Given the description of an element on the screen output the (x, y) to click on. 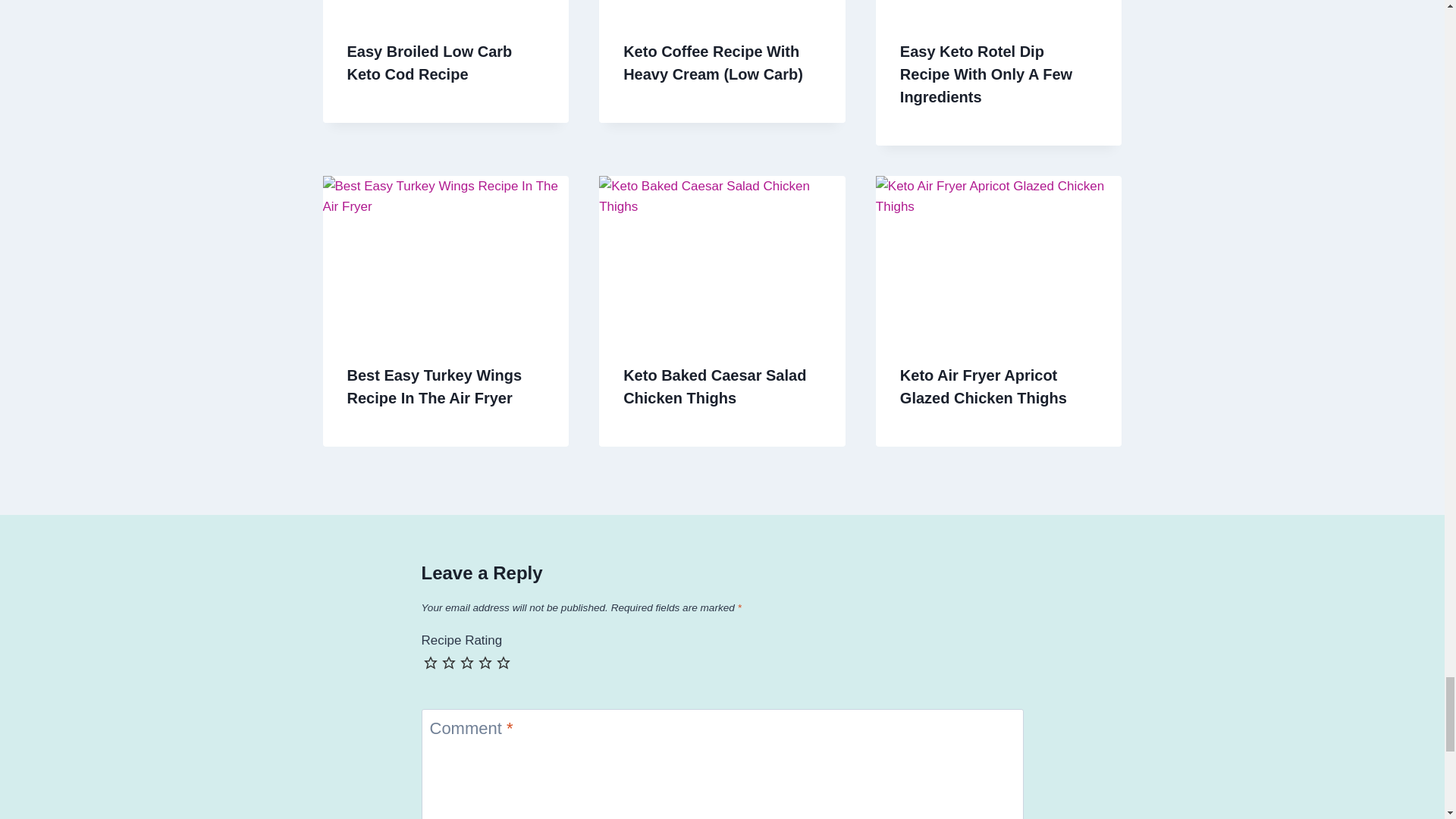
Keto Baked Caesar Salad Chicken Thighs (714, 386)
Easy Broiled Low Carb Keto Cod Recipe (429, 62)
Best Easy Turkey Wings Recipe In The Air Fryer (434, 386)
Easy Keto Rotel Dip Recipe With Only A Few Ingredients (985, 74)
